Given the description of an element on the screen output the (x, y) to click on. 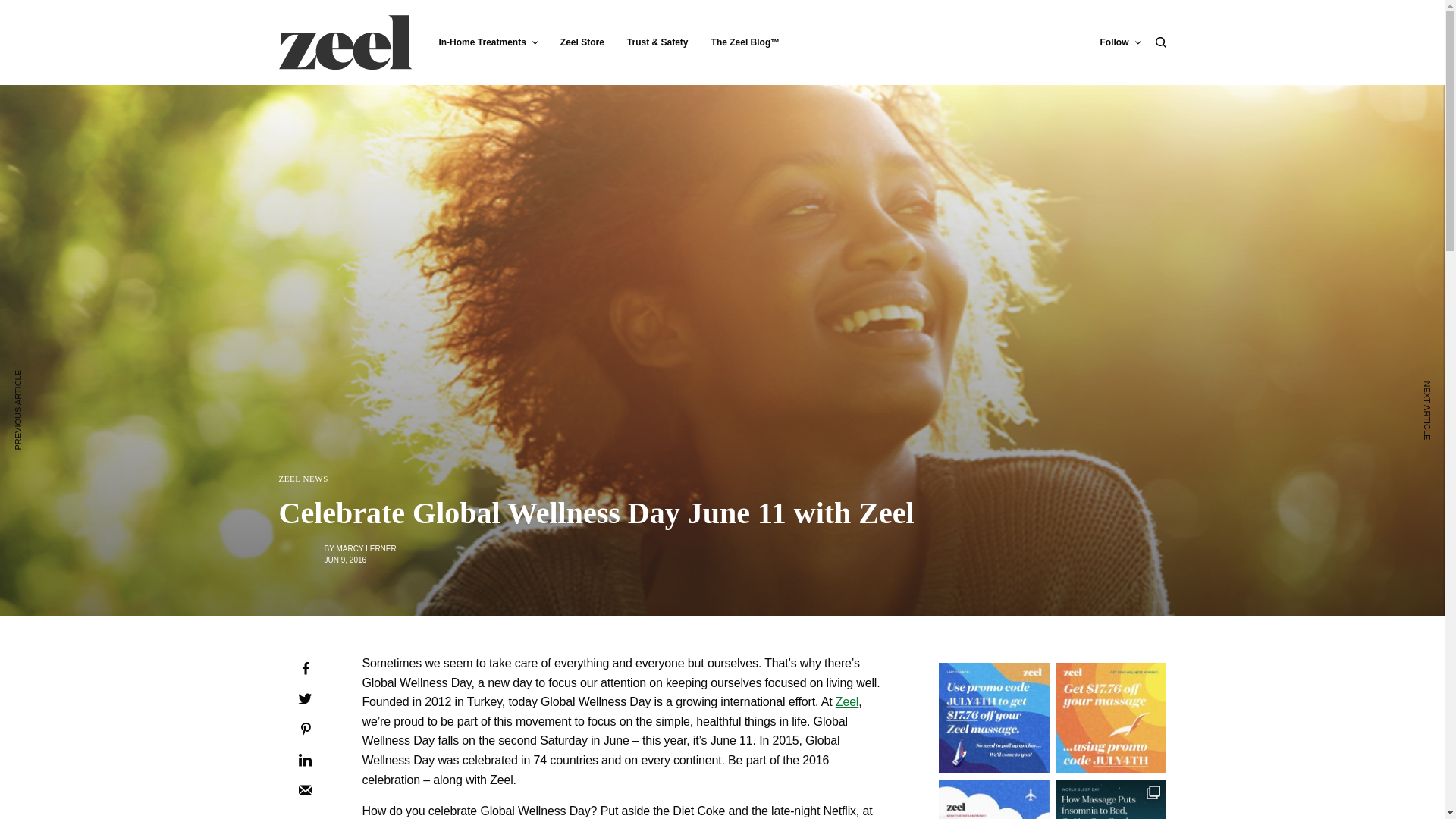
Zeel (847, 701)
Zeel (345, 42)
MARCY LERNER (366, 548)
ZEEL NEWS (304, 479)
Posts by Marcy Lerner (366, 548)
In-Home Treatments (487, 42)
